Given the description of an element on the screen output the (x, y) to click on. 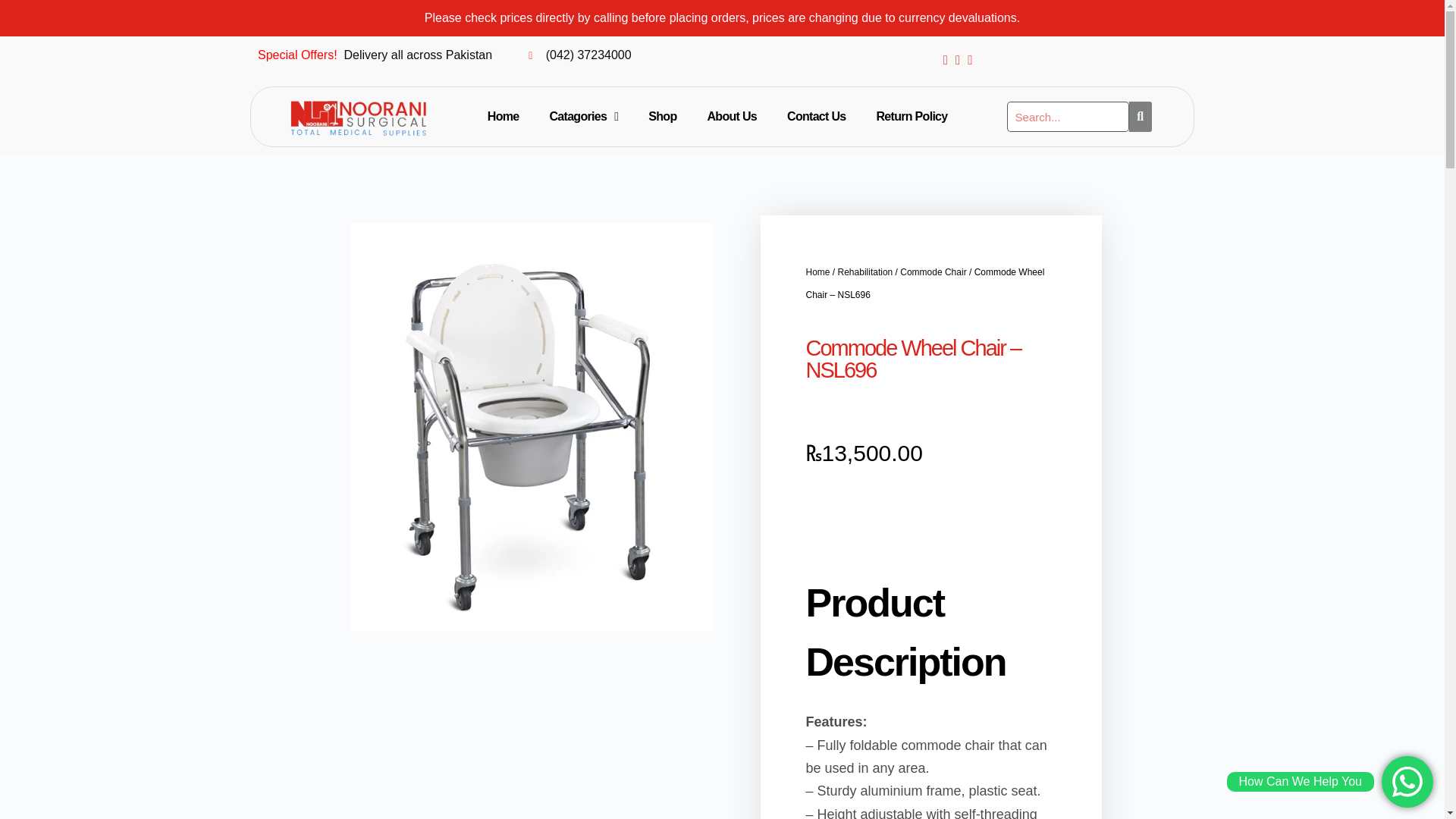
Catagories (583, 116)
Home (502, 116)
Skip to content (15, 7)
